Given the description of an element on the screen output the (x, y) to click on. 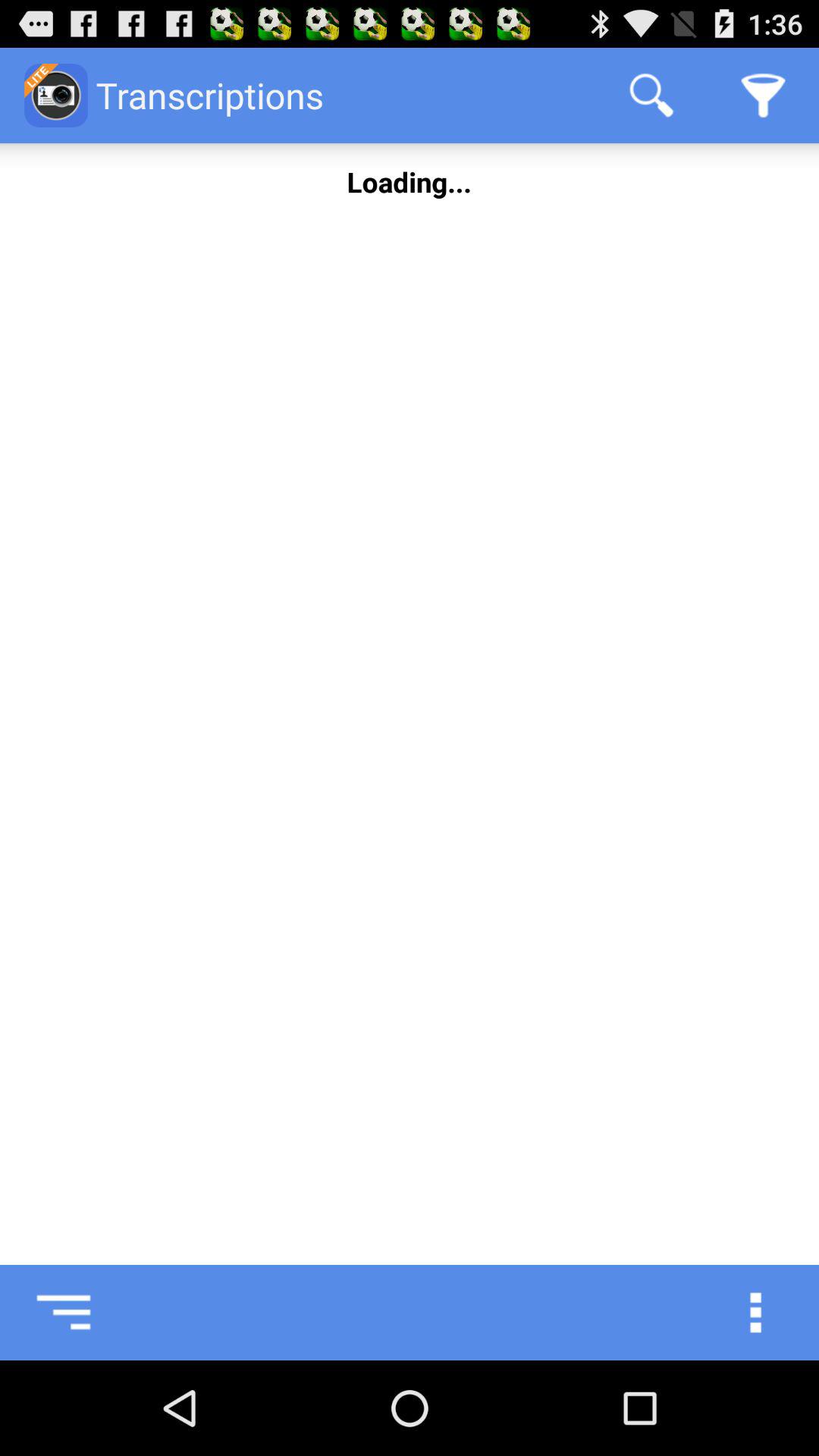
show more options (771, 1312)
